Given the description of an element on the screen output the (x, y) to click on. 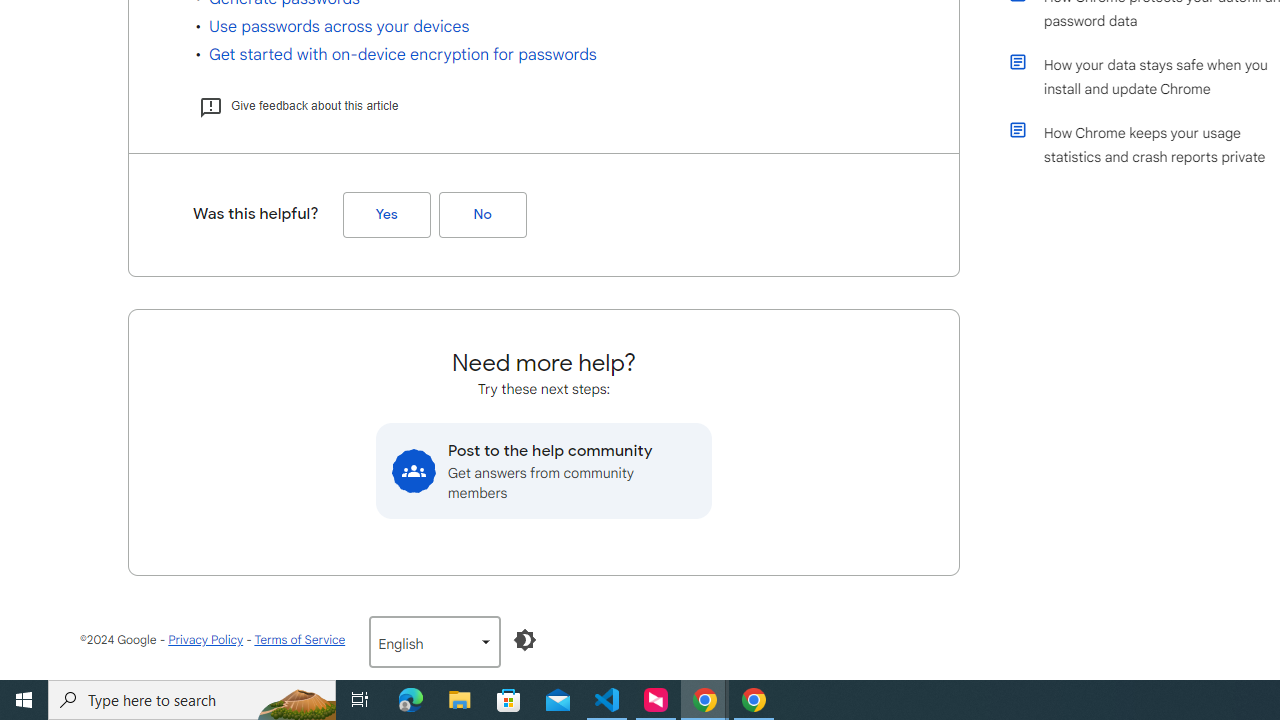
Enable Dark Mode (525, 639)
No (Was this helpful?) (482, 215)
Get started with on-device encryption for passwords (402, 54)
Use passwords across your devices (338, 26)
Give feedback about this article (298, 105)
Yes (Was this helpful?) (386, 215)
